Given the description of an element on the screen output the (x, y) to click on. 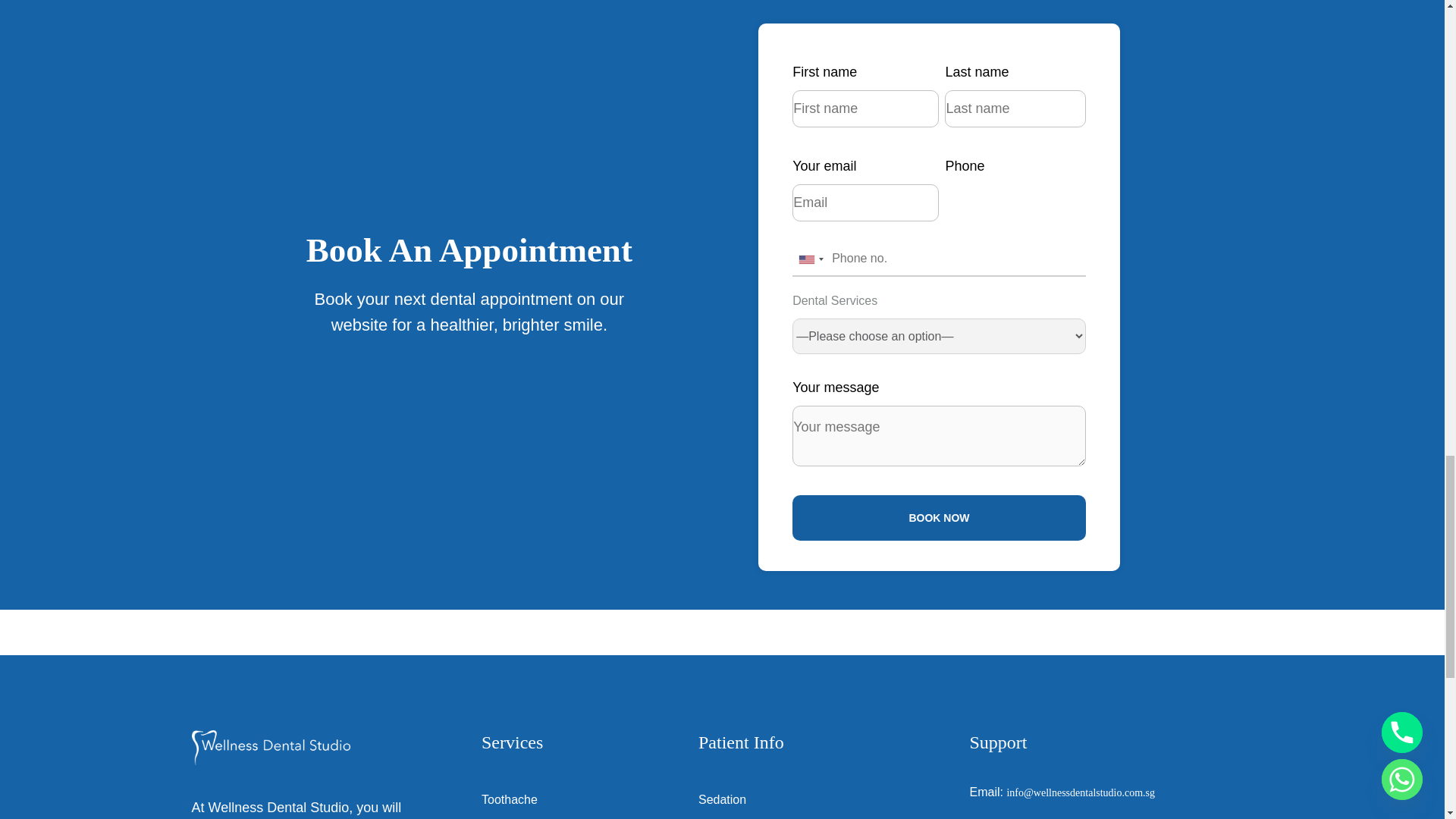
Book Now (939, 517)
